Given the description of an element on the screen output the (x, y) to click on. 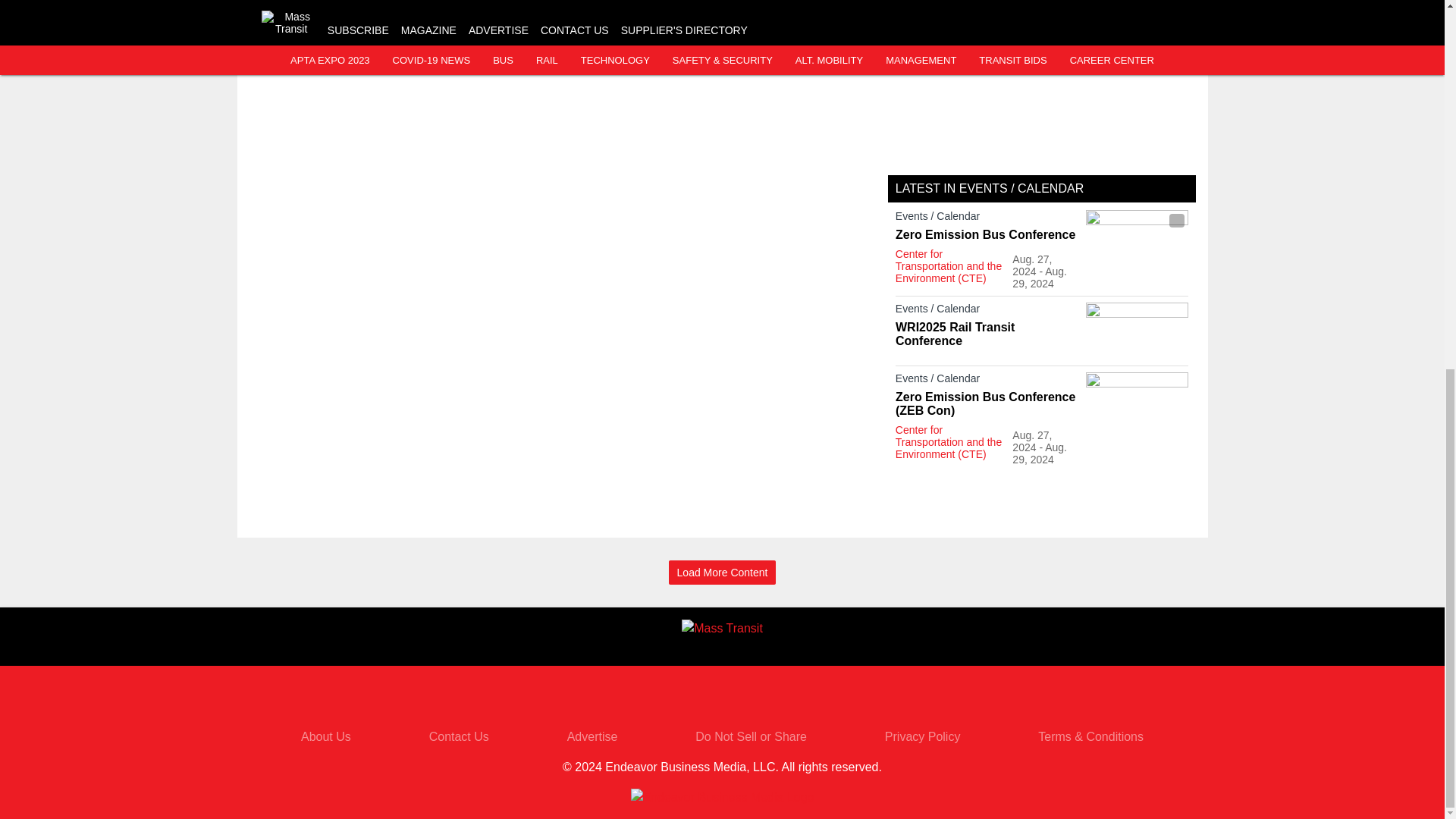
WRI2025 Rail Transit Conference (986, 334)
Zero Emission Bus Conference (986, 234)
Load More Content (722, 572)
